Given the description of an element on the screen output the (x, y) to click on. 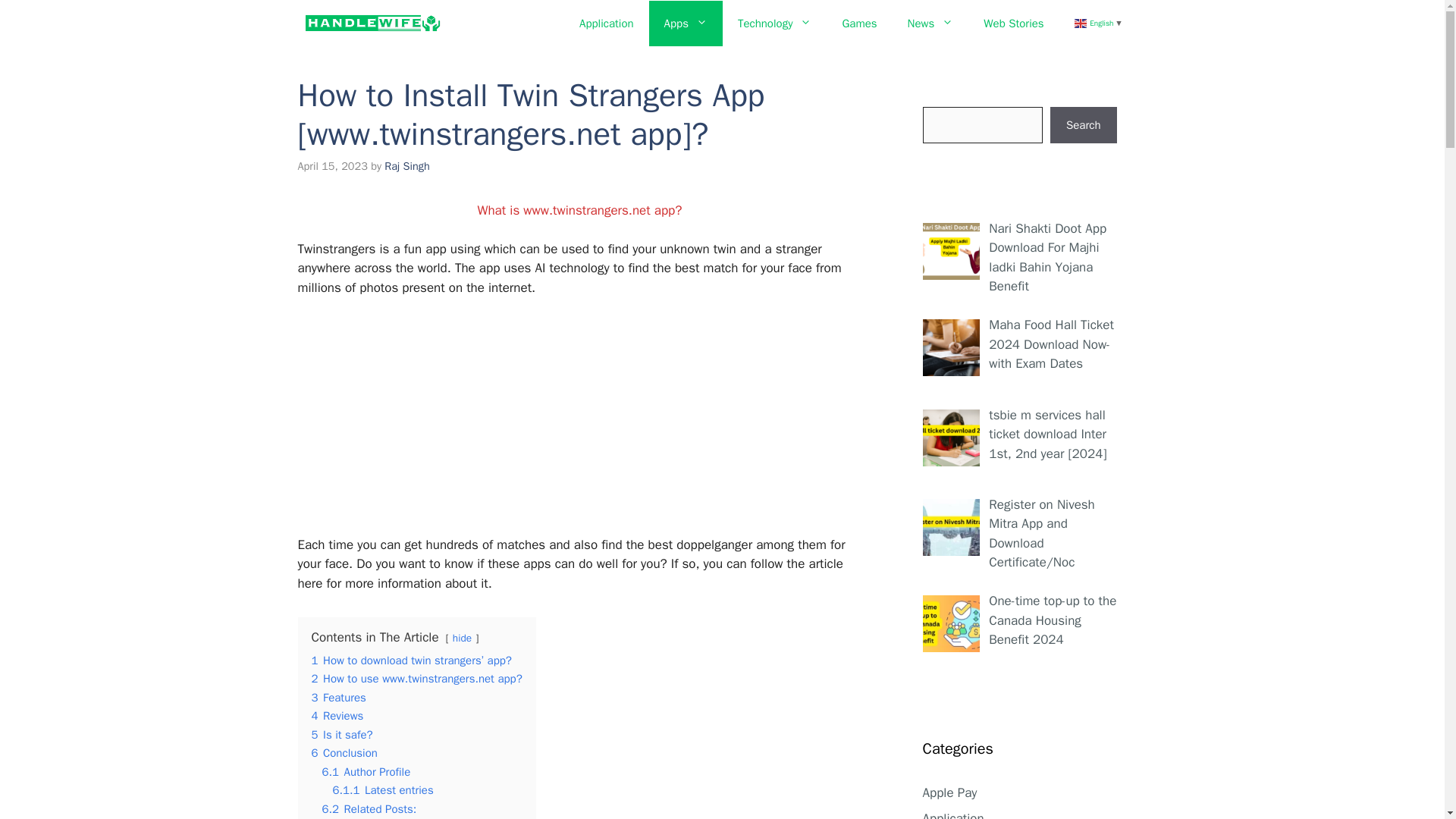
Application (606, 22)
Technology (774, 22)
Web Stories (1013, 22)
News (930, 22)
Advertisement (588, 422)
Apps (685, 22)
Handlewife.com (372, 23)
Games (859, 22)
View all posts by Raj Singh (406, 165)
